Given the description of an element on the screen output the (x, y) to click on. 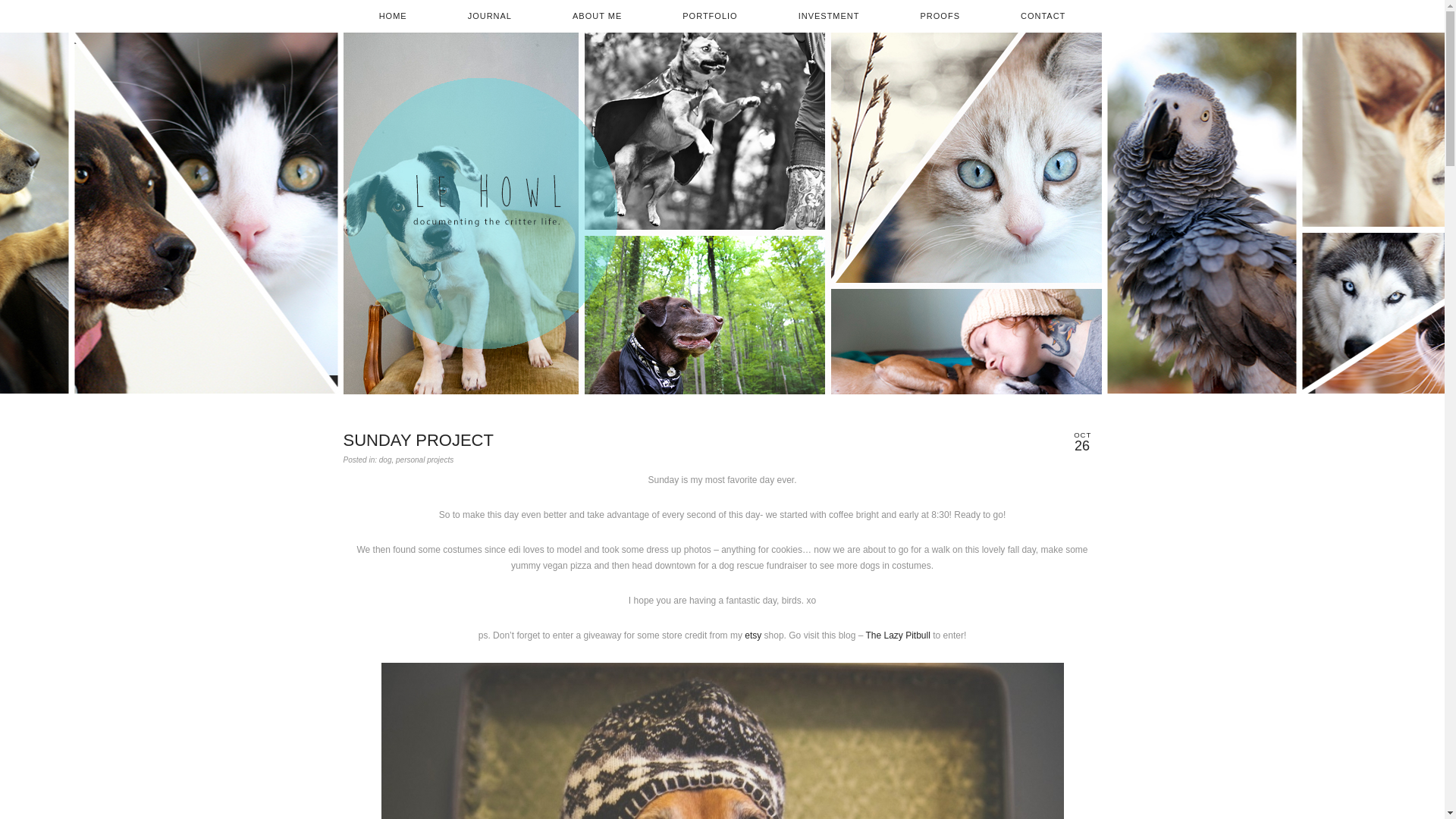
dog (384, 459)
PROOFS (939, 16)
INVESTMENT (828, 16)
ABOUT ME (596, 16)
JOURNAL (489, 16)
HOME (392, 16)
etsy (752, 634)
personal projects (424, 459)
The Lazy Pitbull (897, 634)
Le Howl Photography (480, 212)
PORTFOLIO (709, 16)
CONTACT (1042, 16)
